Given the description of an element on the screen output the (x, y) to click on. 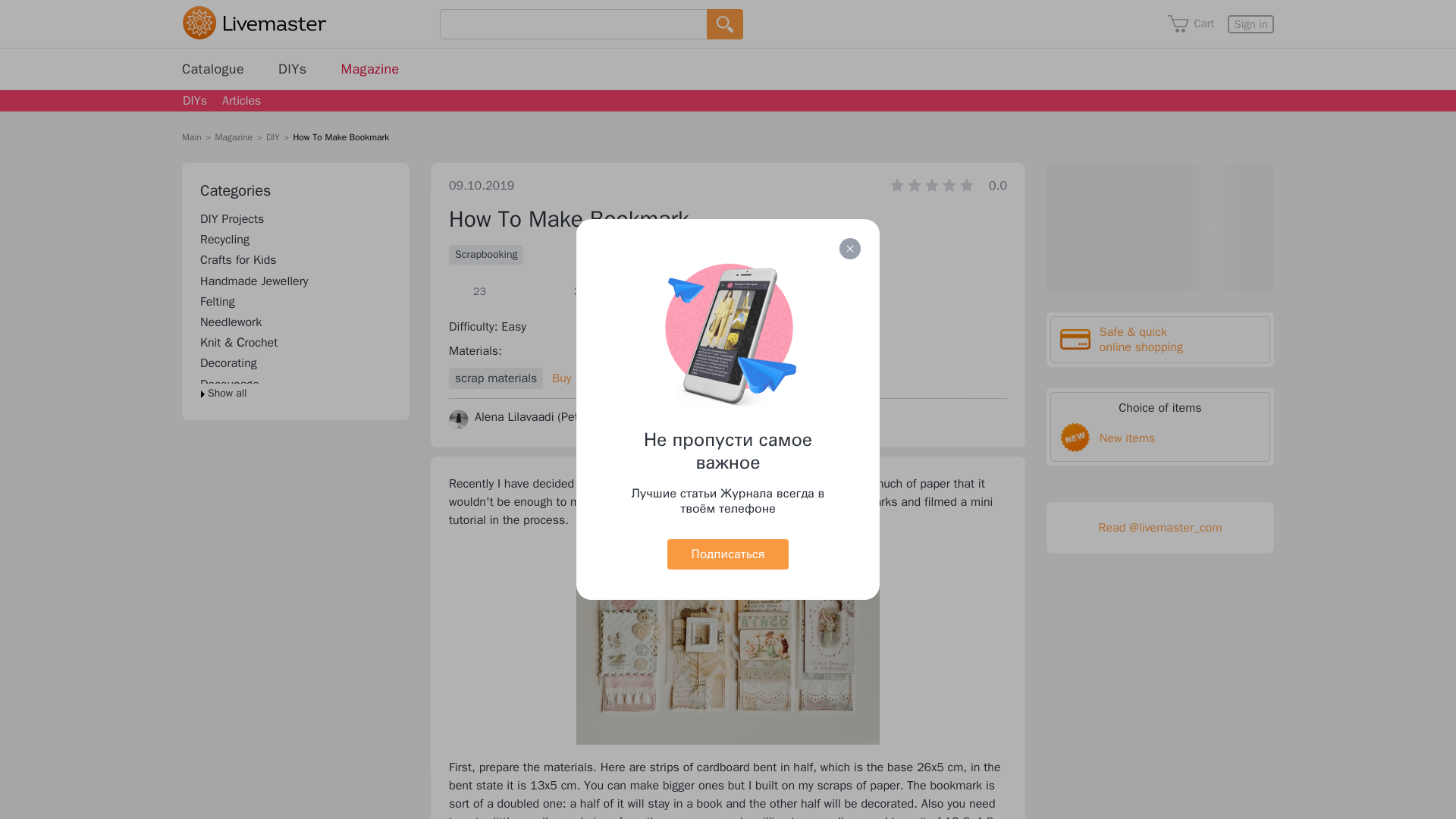
Cart (1190, 23)
Magazine (369, 68)
DIY Projects (231, 218)
Felting (217, 301)
Handmade Jewellery (254, 281)
Decoupage (229, 383)
Recycling (224, 239)
Crafts for Kids (238, 259)
Decorating (228, 363)
Needlework (231, 322)
Sign in (1250, 24)
Catalogue (213, 68)
